Given the description of an element on the screen output the (x, y) to click on. 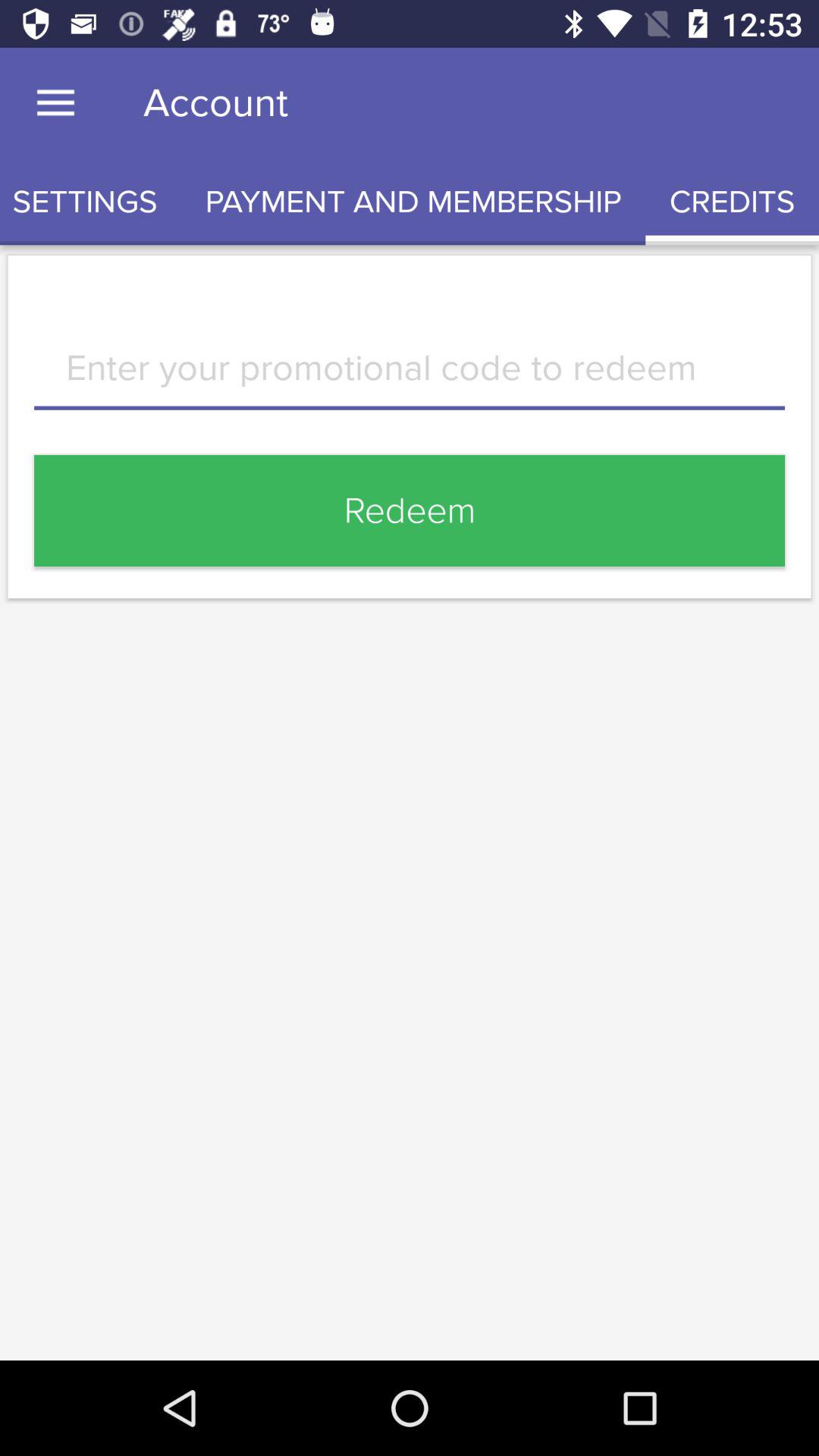
turn off icon above settings item (55, 103)
